Given the description of an element on the screen output the (x, y) to click on. 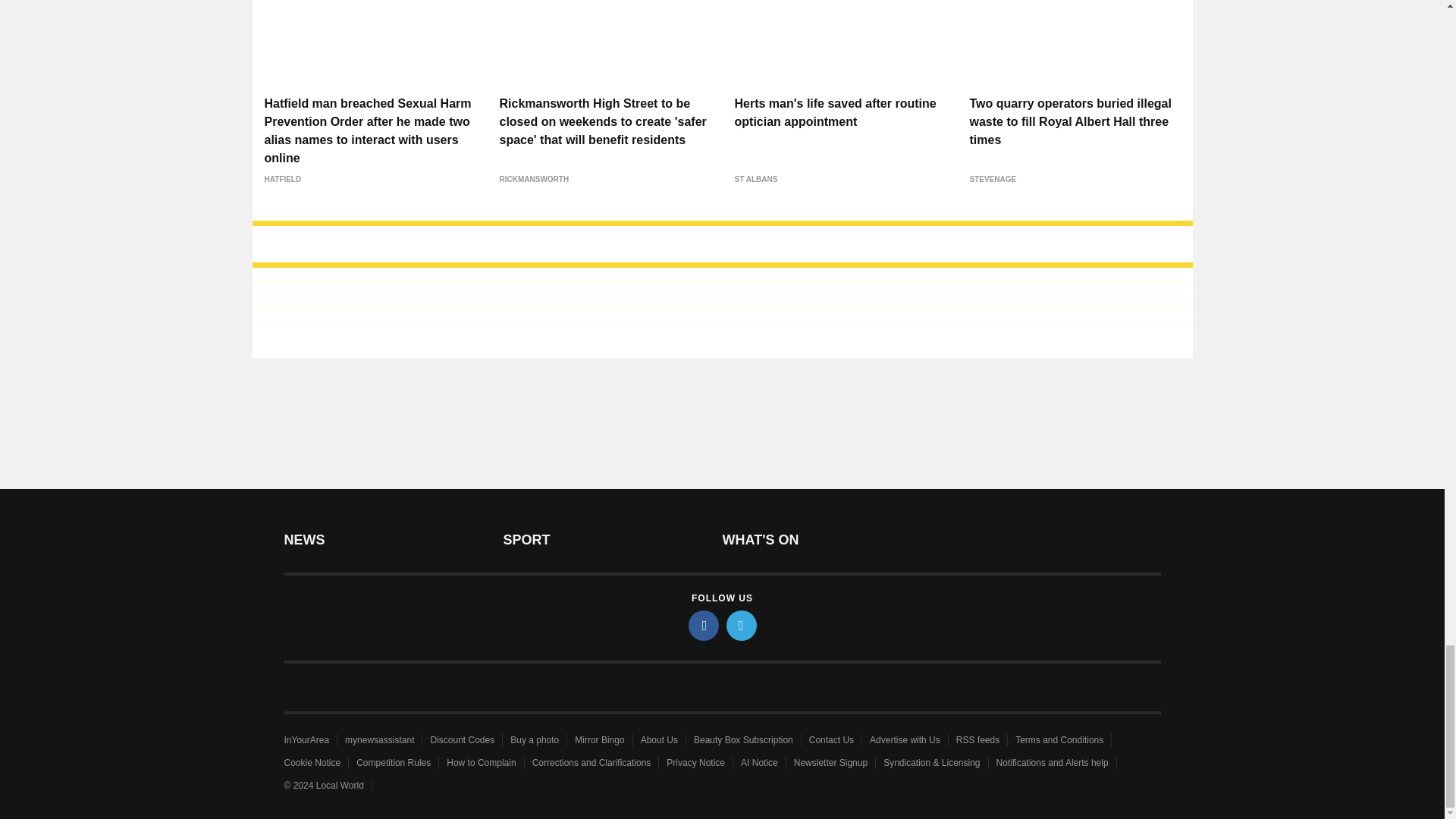
facebook (703, 625)
twitter (741, 625)
